Given the description of an element on the screen output the (x, y) to click on. 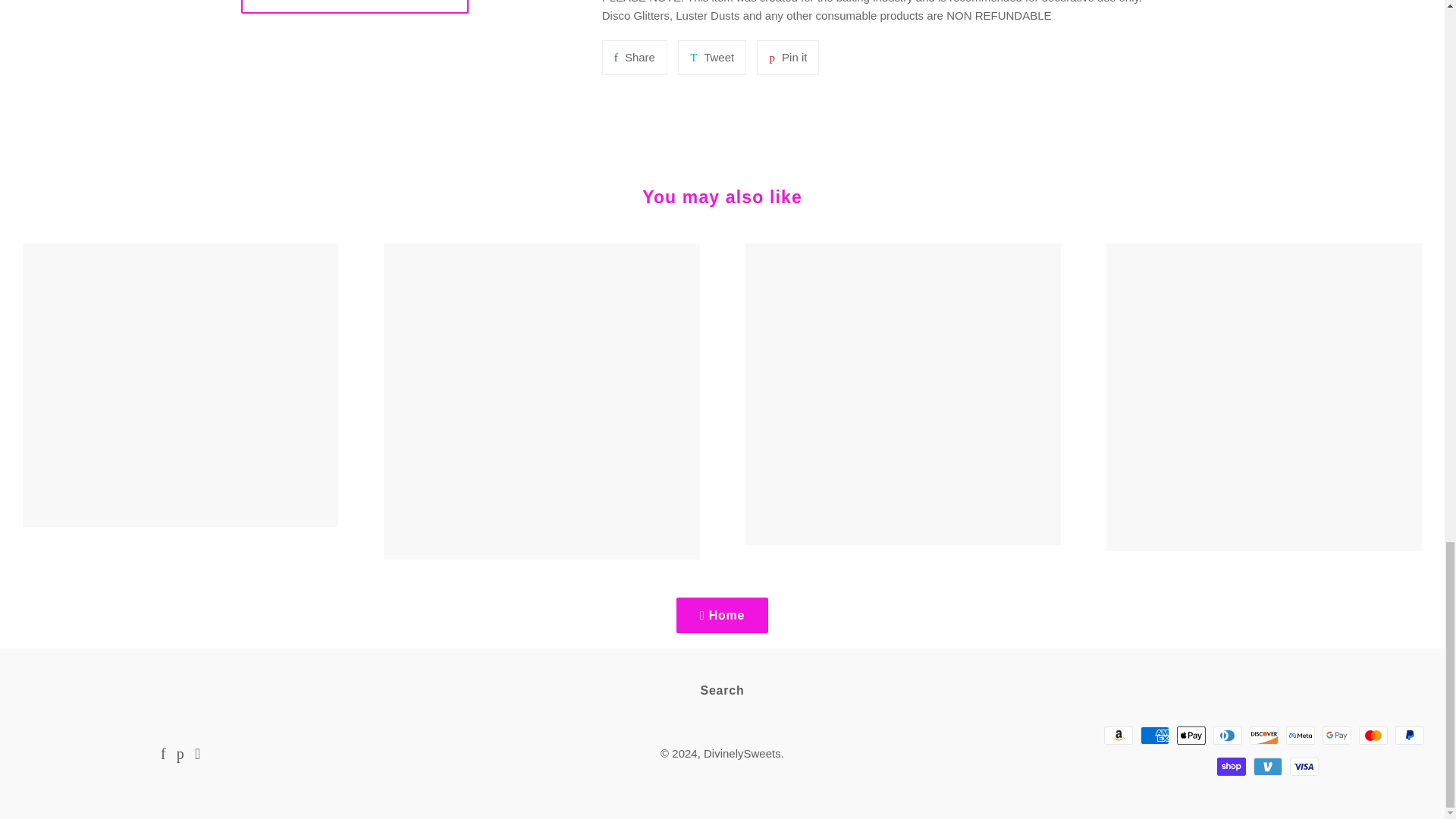
Diners Club (1226, 735)
Add to cart (354, 6)
Amazon (787, 57)
Venmo (1117, 735)
Pin on Pinterest (1267, 766)
Shop Pay (787, 57)
Google Pay (1231, 766)
Tweet on Twitter (1336, 735)
Meta Pay (634, 57)
American Express (711, 57)
Share on Facebook (1299, 735)
Visa (1154, 735)
Apple Pay (634, 57)
